Given the description of an element on the screen output the (x, y) to click on. 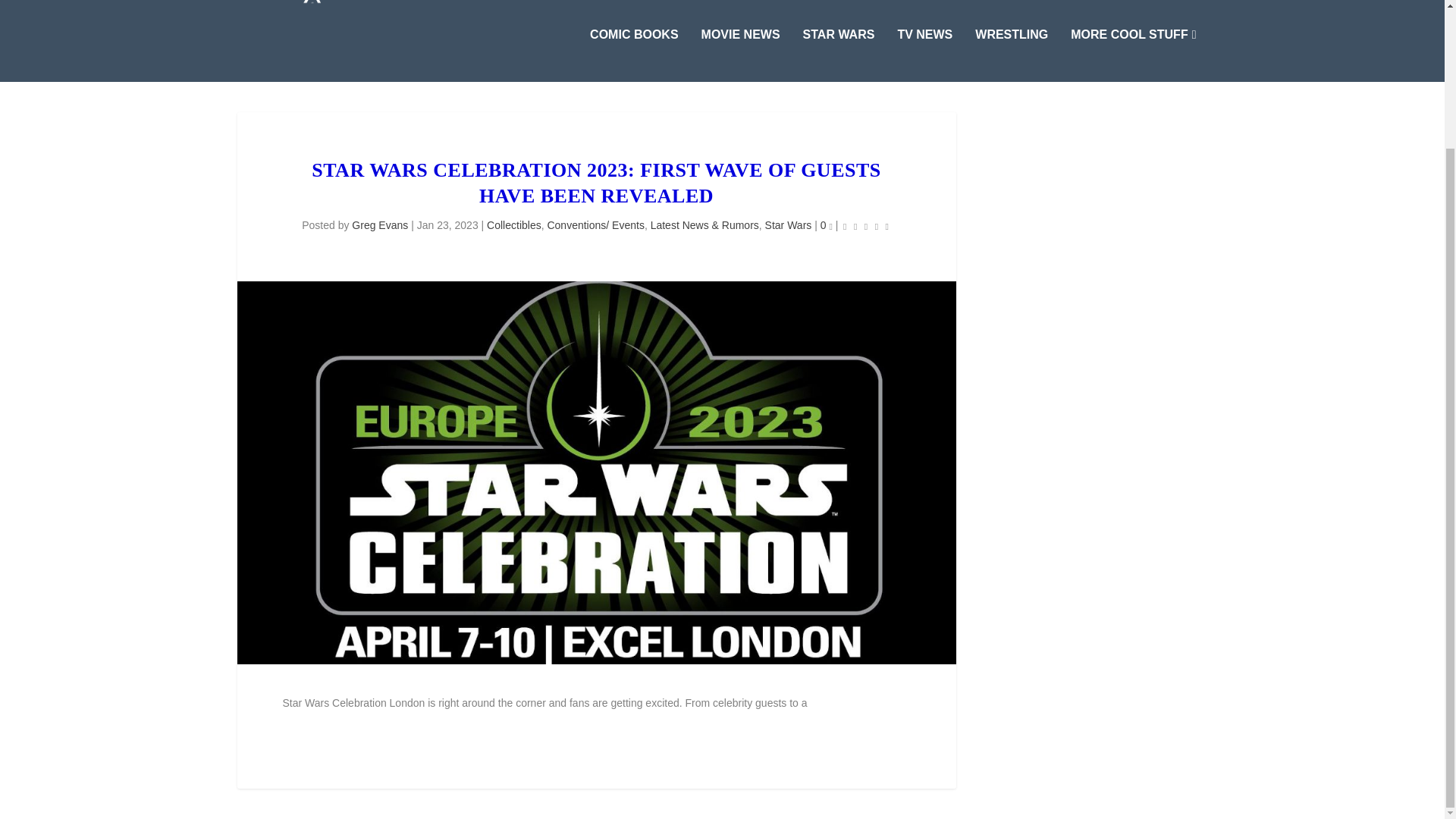
Rating: 0.00 (866, 226)
MORE COOL STUFF (1132, 54)
0 (826, 224)
Greg Evans (379, 224)
Star Wars (788, 224)
Posts by Greg Evans (379, 224)
COMIC BOOKS (633, 54)
Collectibles (513, 224)
MOVIE NEWS (740, 54)
WRESTLING (1011, 54)
TV NEWS (924, 54)
STAR WARS (839, 54)
